Given the description of an element on the screen output the (x, y) to click on. 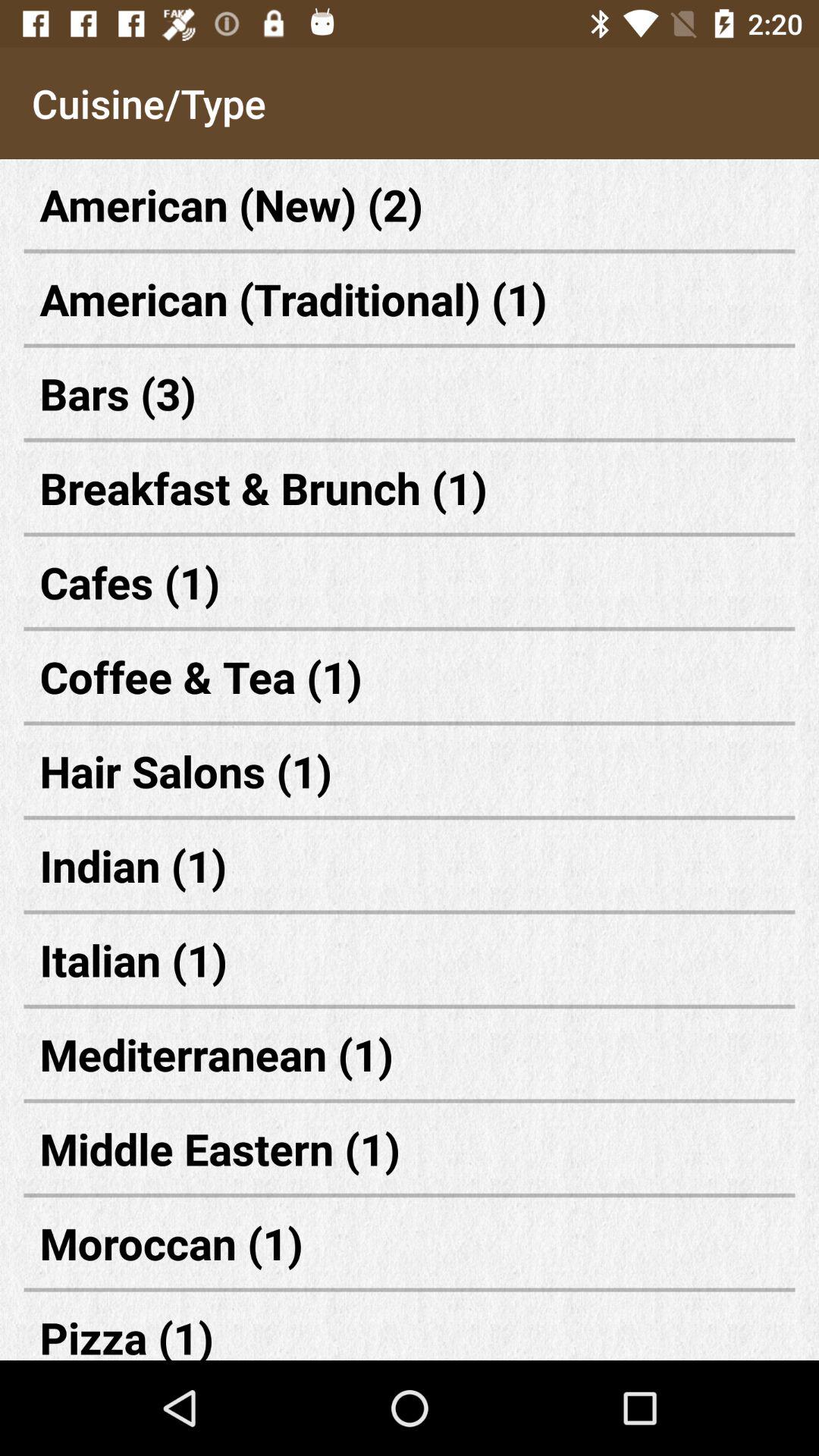
choose the icon below bars (3) item (409, 487)
